Given the description of an element on the screen output the (x, y) to click on. 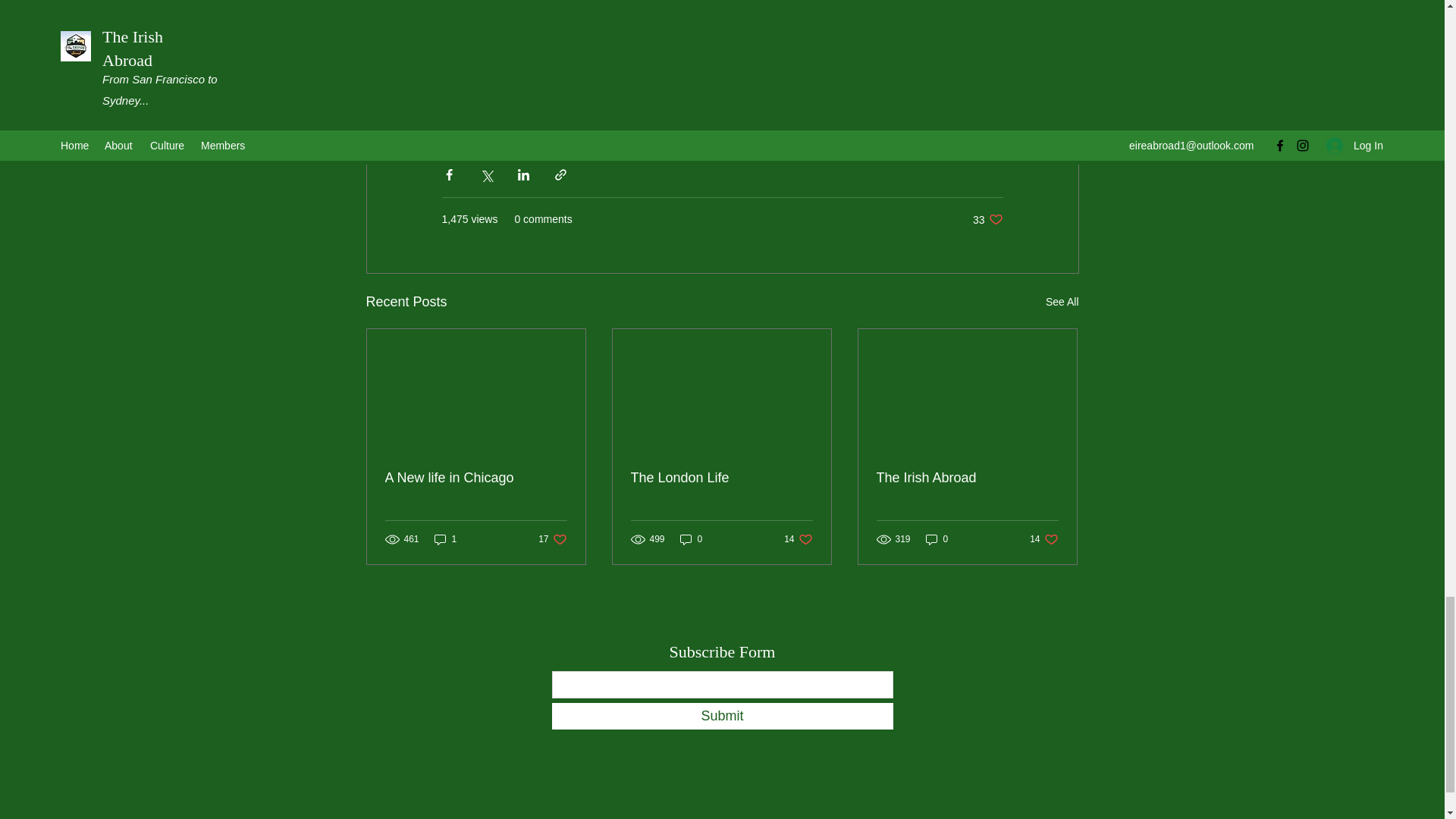
1 (445, 539)
The London Life (721, 478)
Submit (722, 715)
The Irish Abroad (967, 478)
0 (937, 539)
See All (987, 219)
0 (552, 539)
A New life in Chicago (1061, 301)
